Given the description of an element on the screen output the (x, y) to click on. 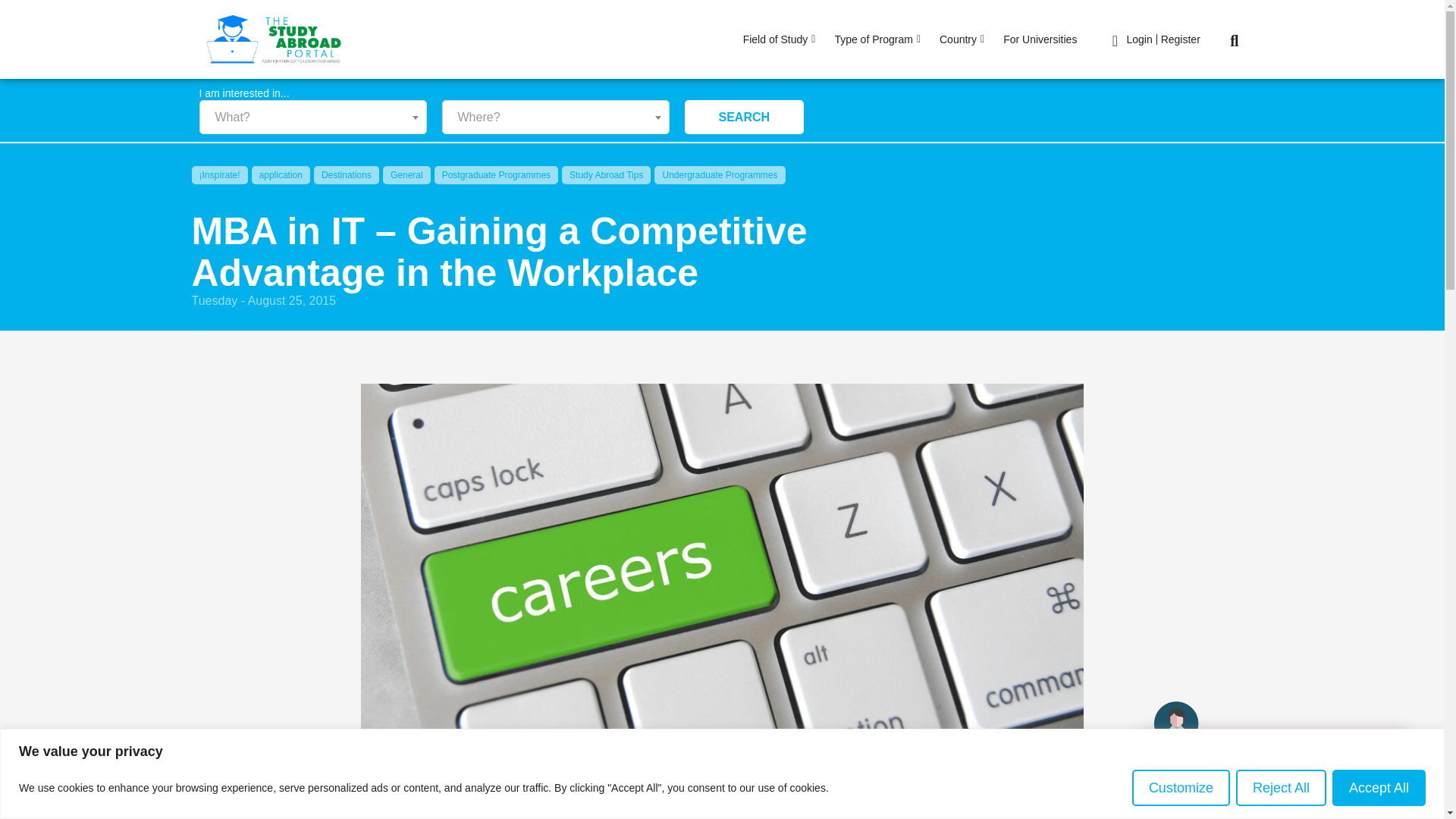
Reject All (1281, 787)
Customize (1181, 787)
Accept All (1378, 787)
Field of Study (781, 39)
Type of Program (879, 39)
